Given the description of an element on the screen output the (x, y) to click on. 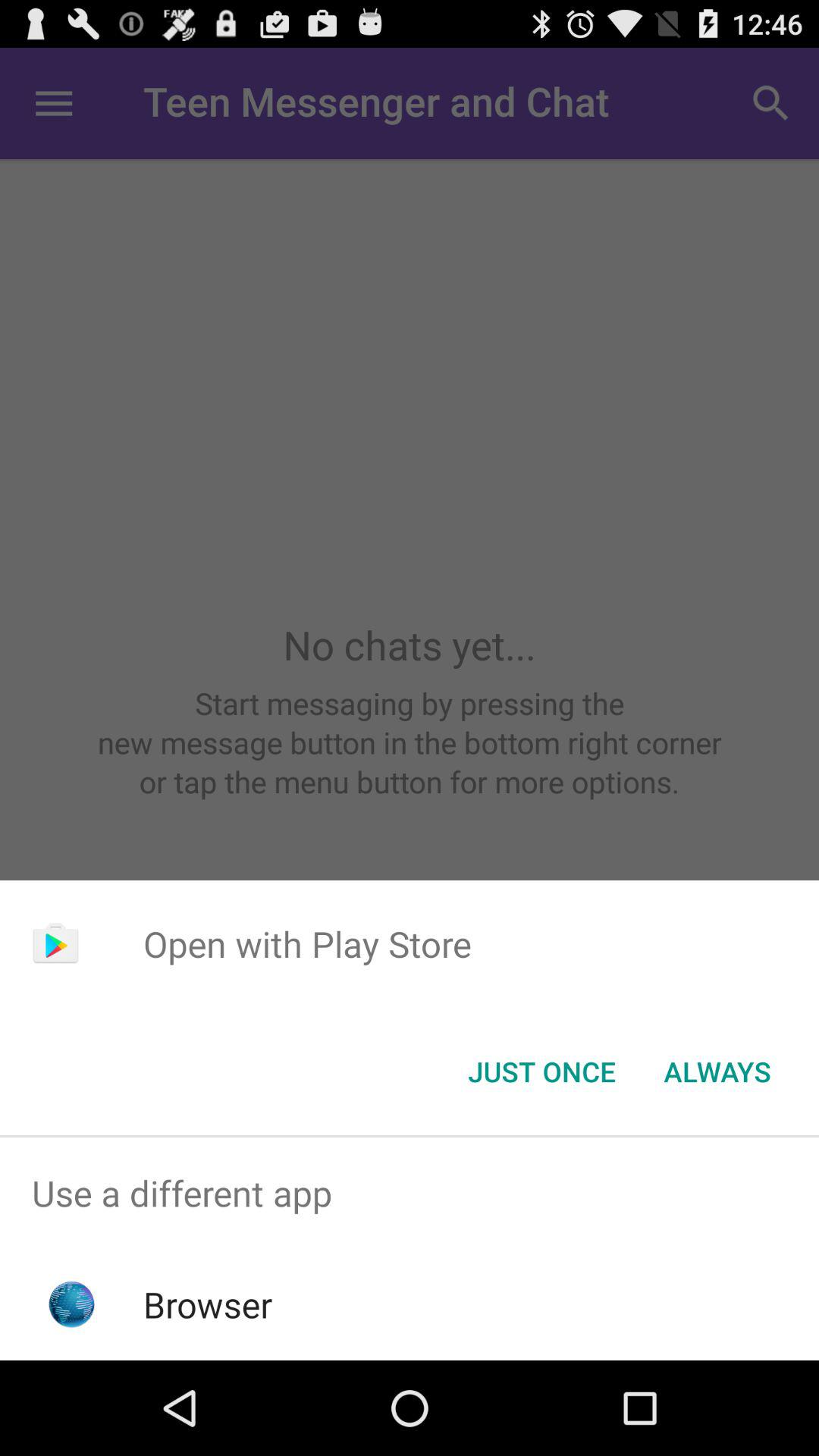
turn on the browser (207, 1304)
